Given the description of an element on the screen output the (x, y) to click on. 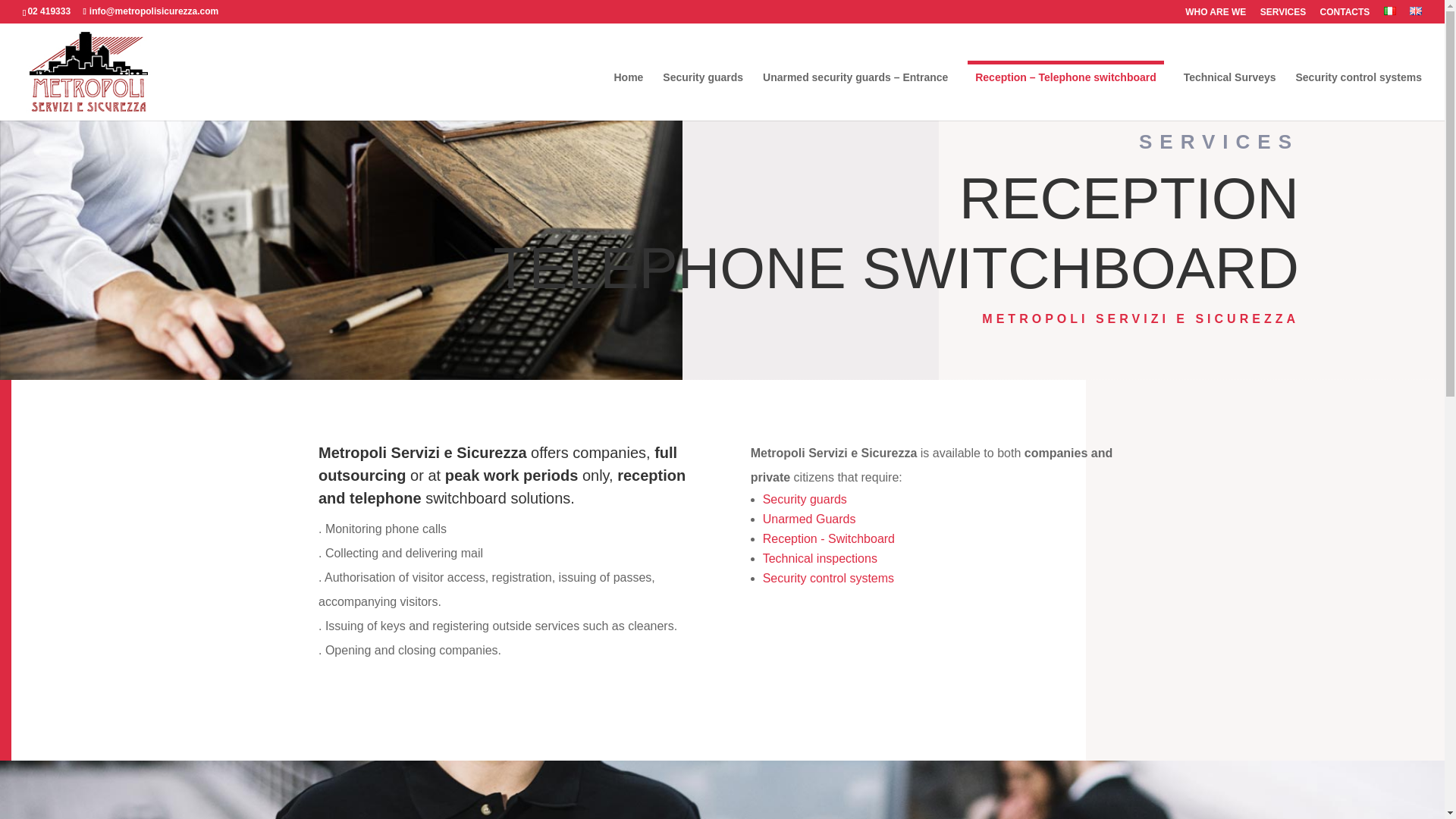
Reception - Switchboard (828, 538)
Security control systems (827, 577)
Unarmed Guards (809, 518)
02 419333 (48, 10)
Security control systems (1358, 96)
SERVICES (1283, 15)
English (1415, 10)
Technical inspections (819, 558)
CONTACTS (1345, 15)
Technical Surveys (1229, 96)
Security guards (702, 96)
Security guards (804, 499)
WHO ARE WE (1215, 15)
Italiano (1390, 10)
